Given the description of an element on the screen output the (x, y) to click on. 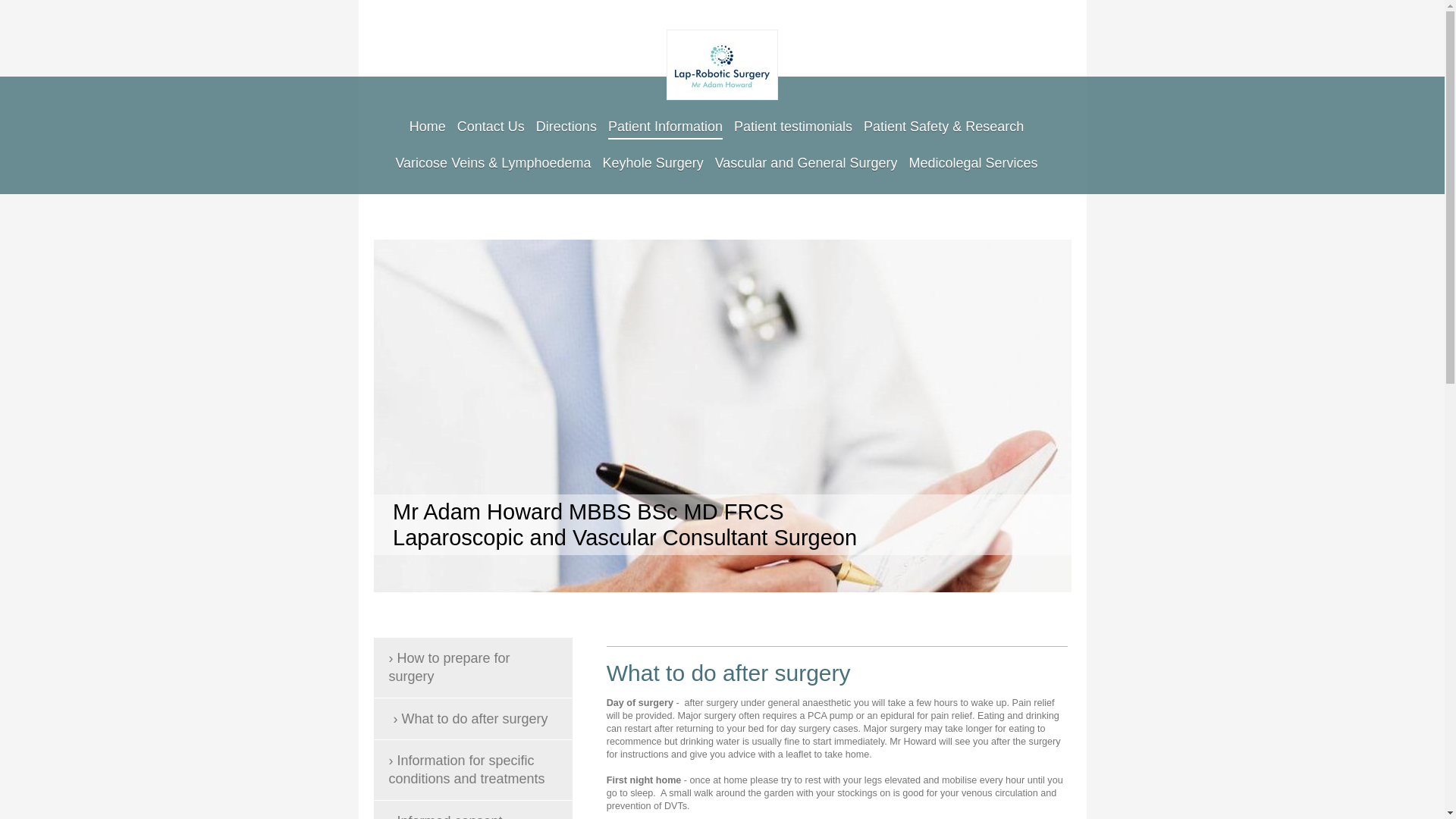
Patient Information (665, 123)
Contact Us (490, 123)
Patient testimonials (792, 123)
Directions (565, 123)
Home (427, 123)
Vascular and General Surgery (806, 159)
Keyhole Surgery (652, 159)
